Given the description of an element on the screen output the (x, y) to click on. 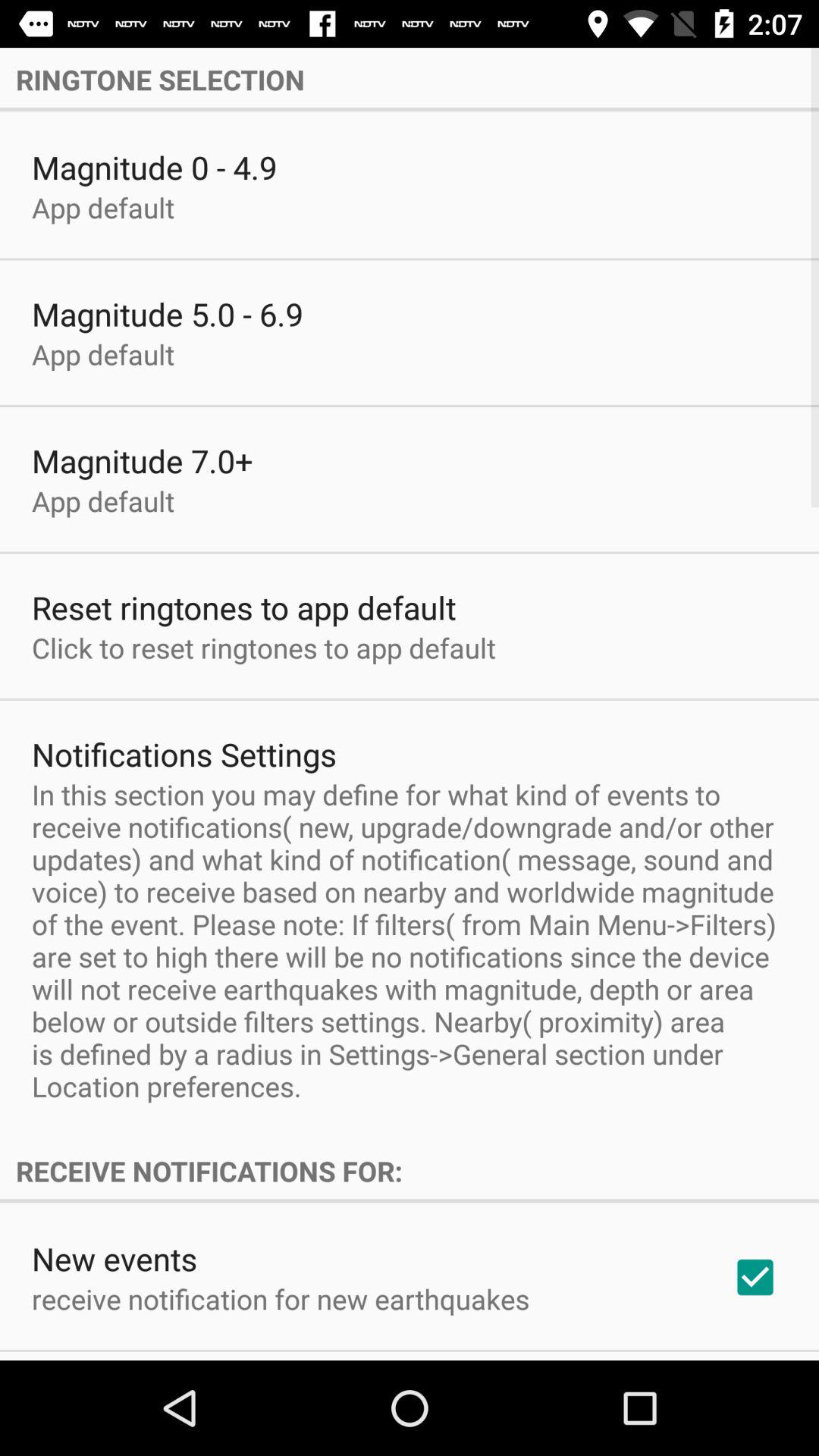
turn on the item next to the receive notification for icon (755, 1277)
